Given the description of an element on the screen output the (x, y) to click on. 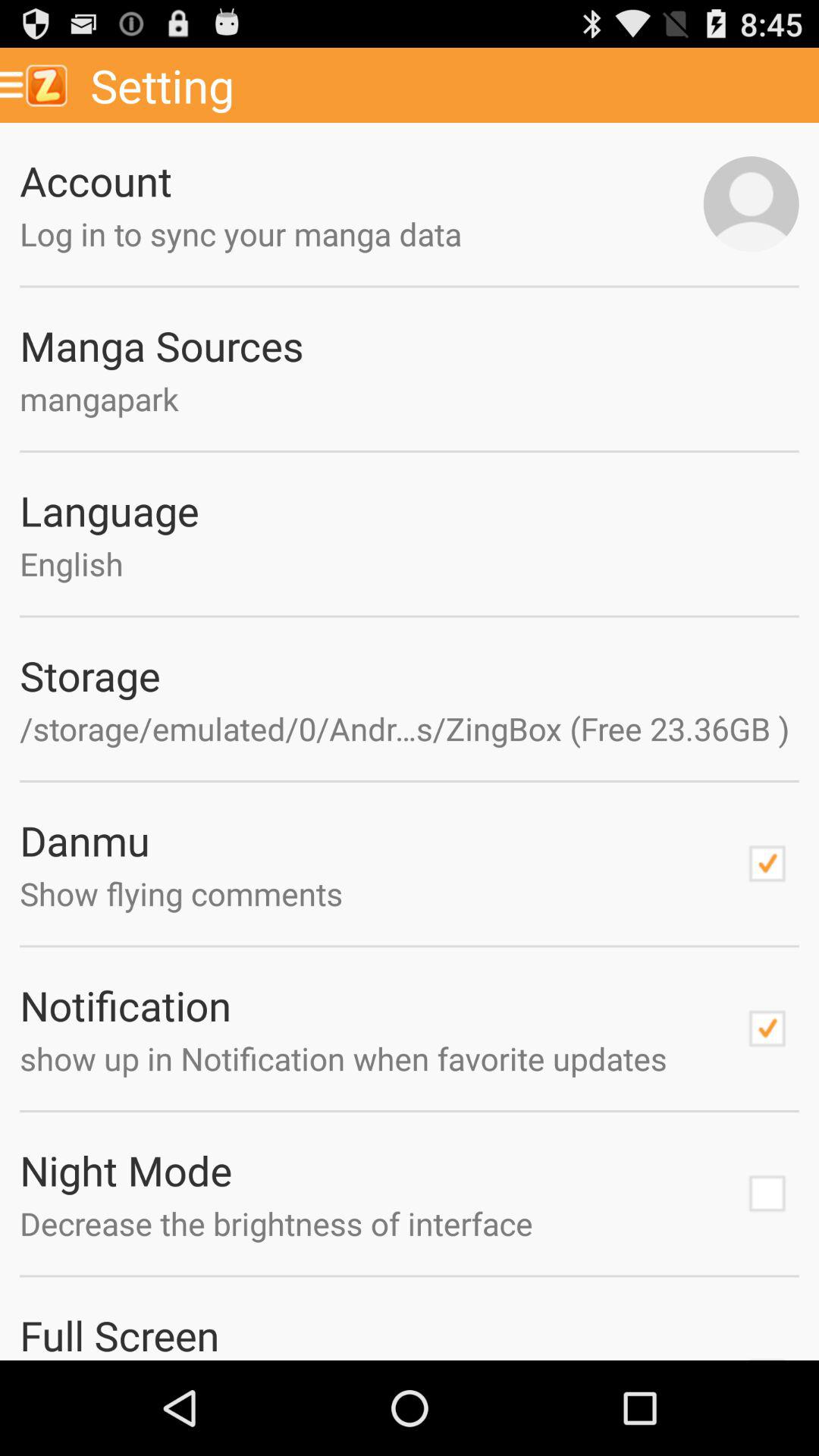
select icon next to the setting app (40, 84)
